Given the description of an element on the screen output the (x, y) to click on. 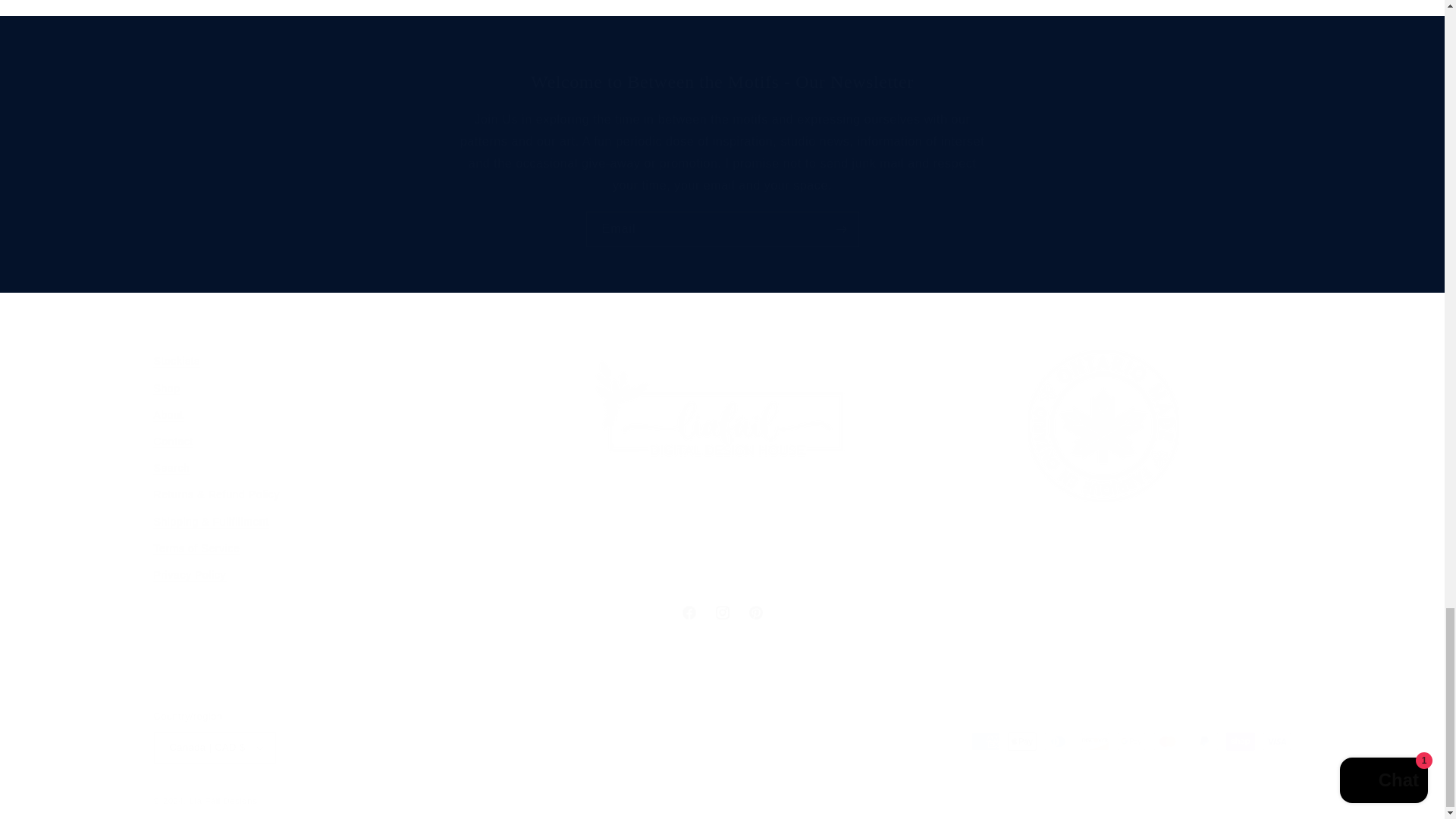
Email (722, 229)
Welcome to Between the Motifs - Our Newsletter (721, 82)
